Given the description of an element on the screen output the (x, y) to click on. 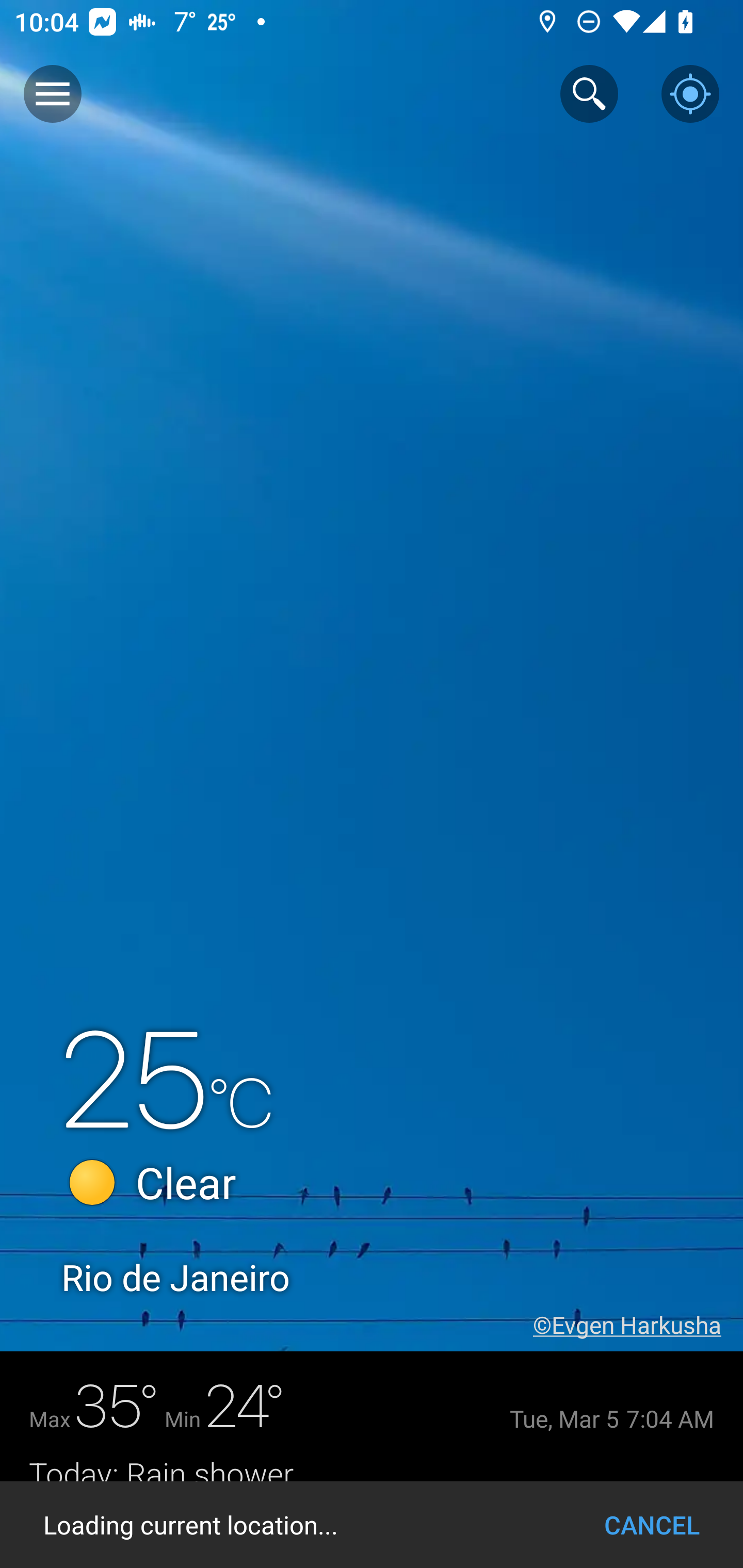
©Evgen Harkusha (637, 1324)
Loading current location... CANCEL (371, 1524)
CANCEL (651, 1524)
